Given the description of an element on the screen output the (x, y) to click on. 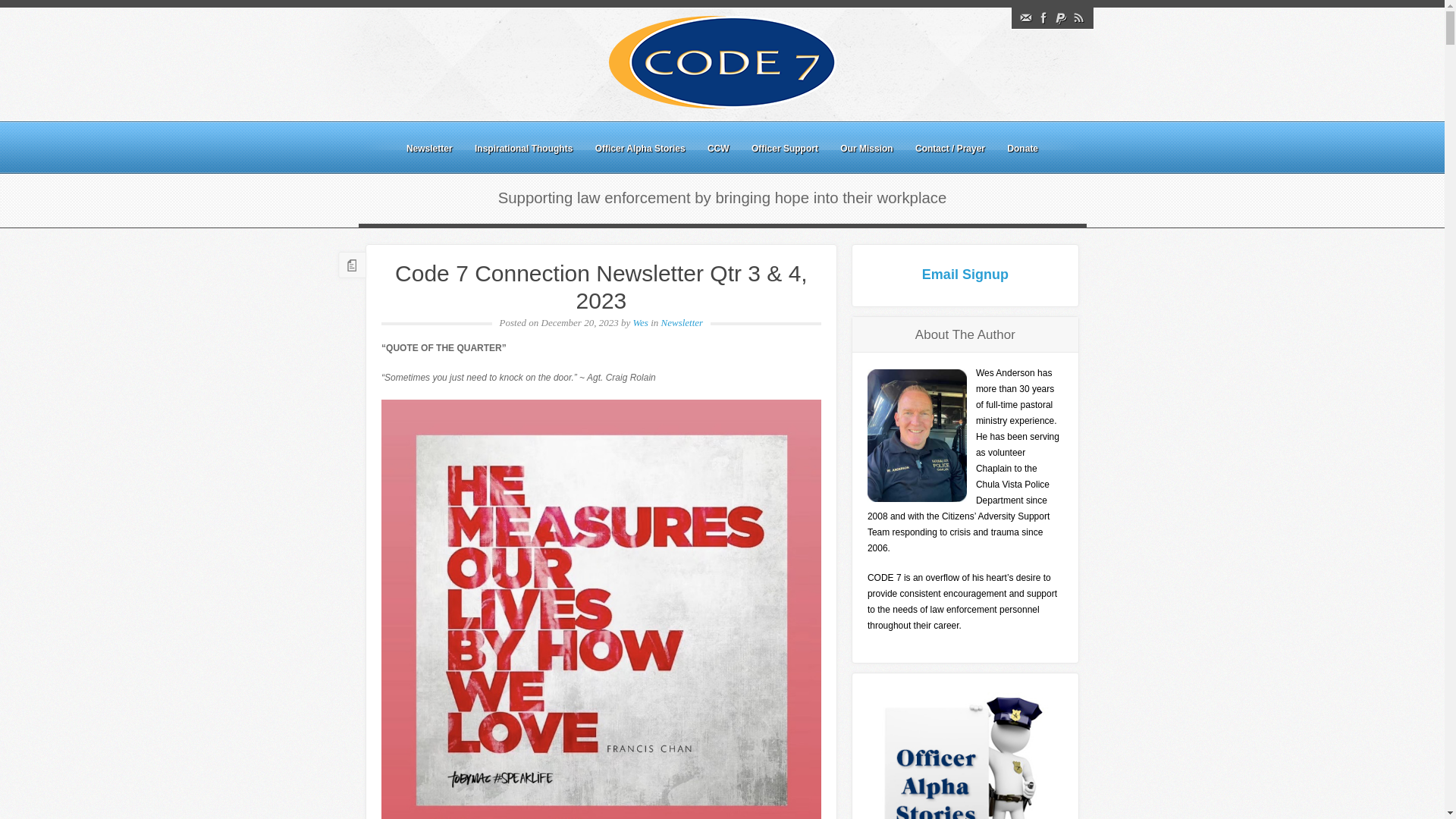
CCW (718, 148)
Newsletter (682, 322)
Donate (1021, 148)
Facebook (1043, 17)
Email (1024, 17)
Facebook (1043, 17)
Inspirational Thoughts (523, 148)
Rss (1078, 17)
Paypal (1059, 17)
Officer Alpha Stories (640, 148)
